Given the description of an element on the screen output the (x, y) to click on. 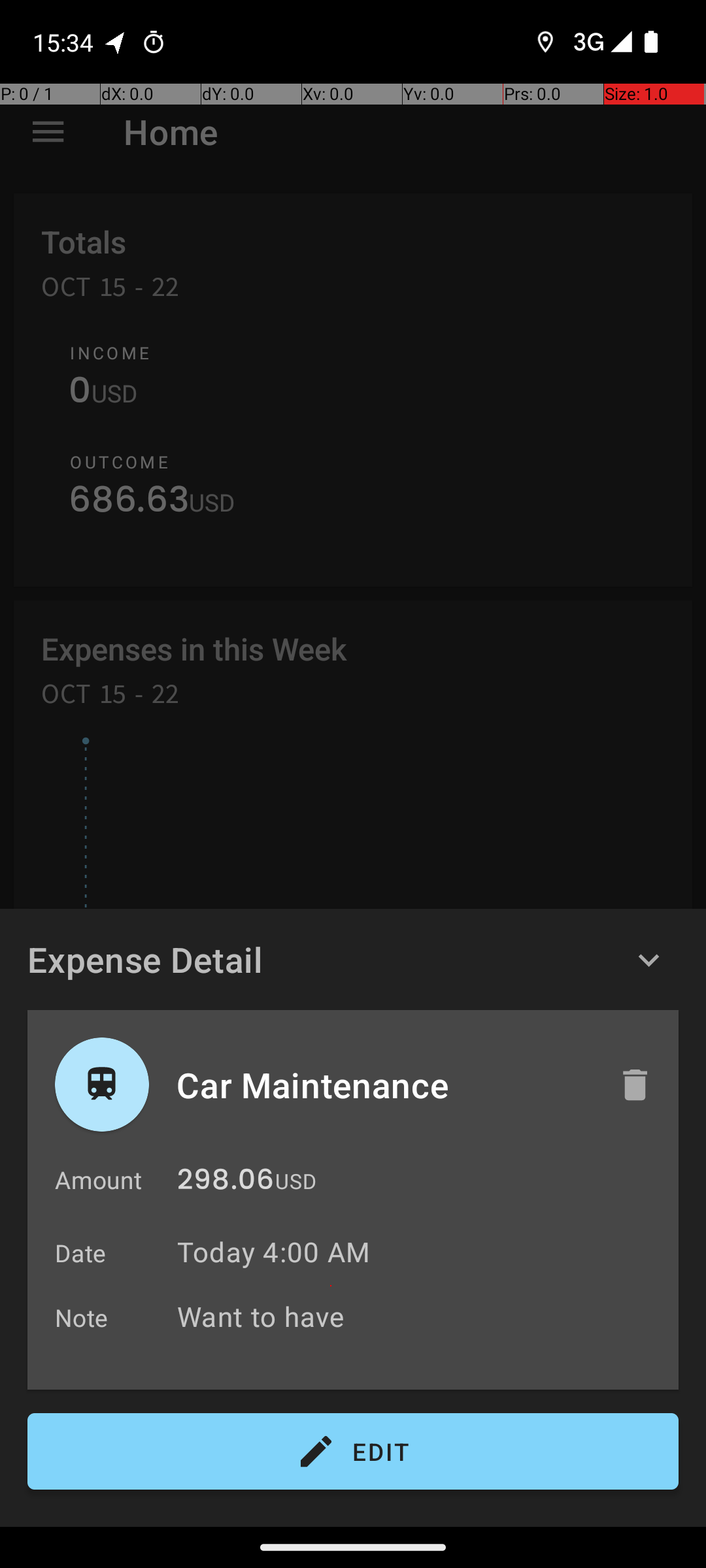
Car Maintenance Element type: android.widget.TextView (383, 1084)
298.06 Element type: android.widget.TextView (225, 1182)
